Given the description of an element on the screen output the (x, y) to click on. 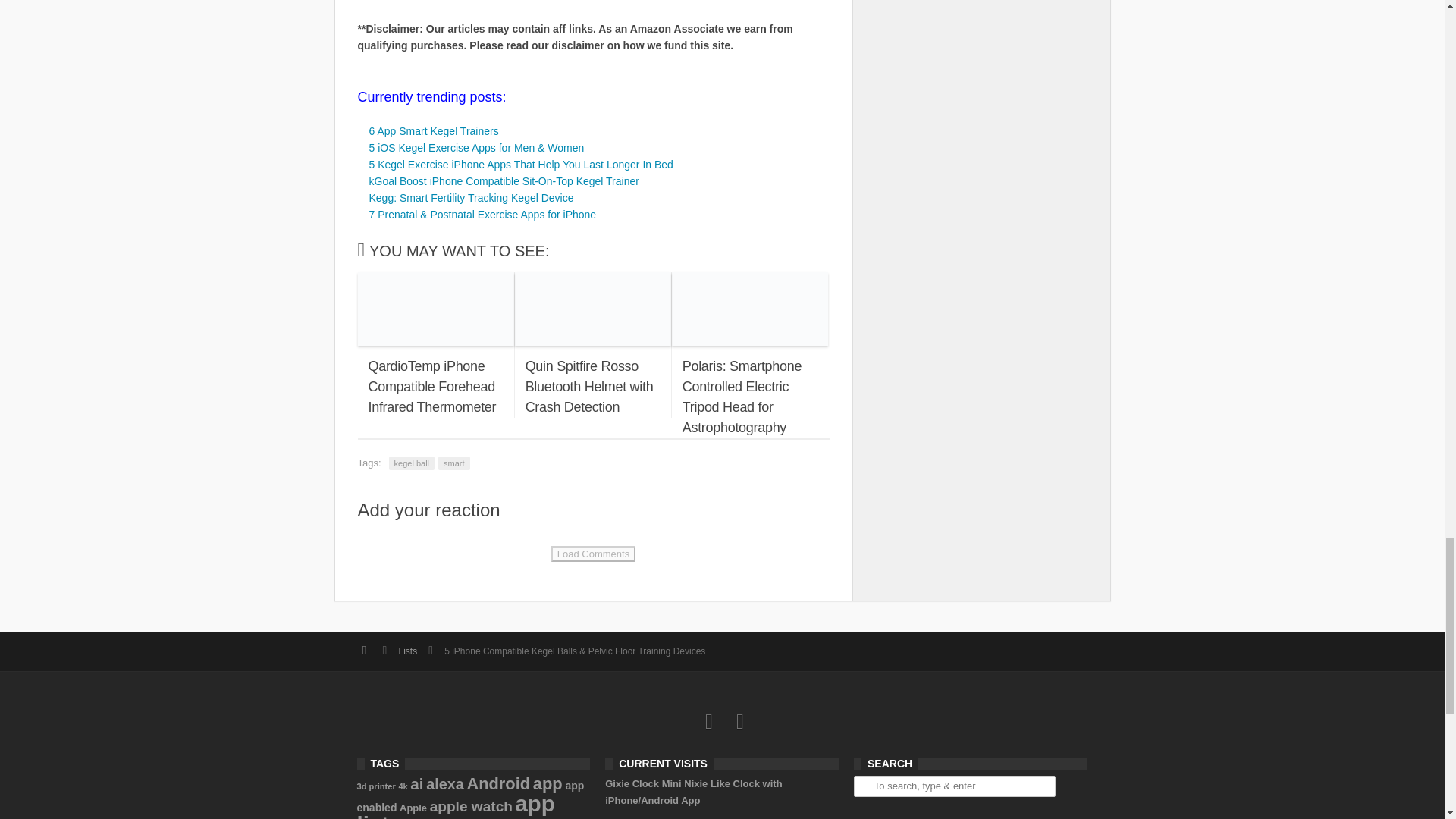
kGoal Boost iPhone Compatible Sit-On-Top Kegel Trainer (503, 181)
Kegg: Smart Fertility Tracking Kegel Device (470, 197)
6 App Smart Kegel Trainers (432, 131)
